Given the description of an element on the screen output the (x, y) to click on. 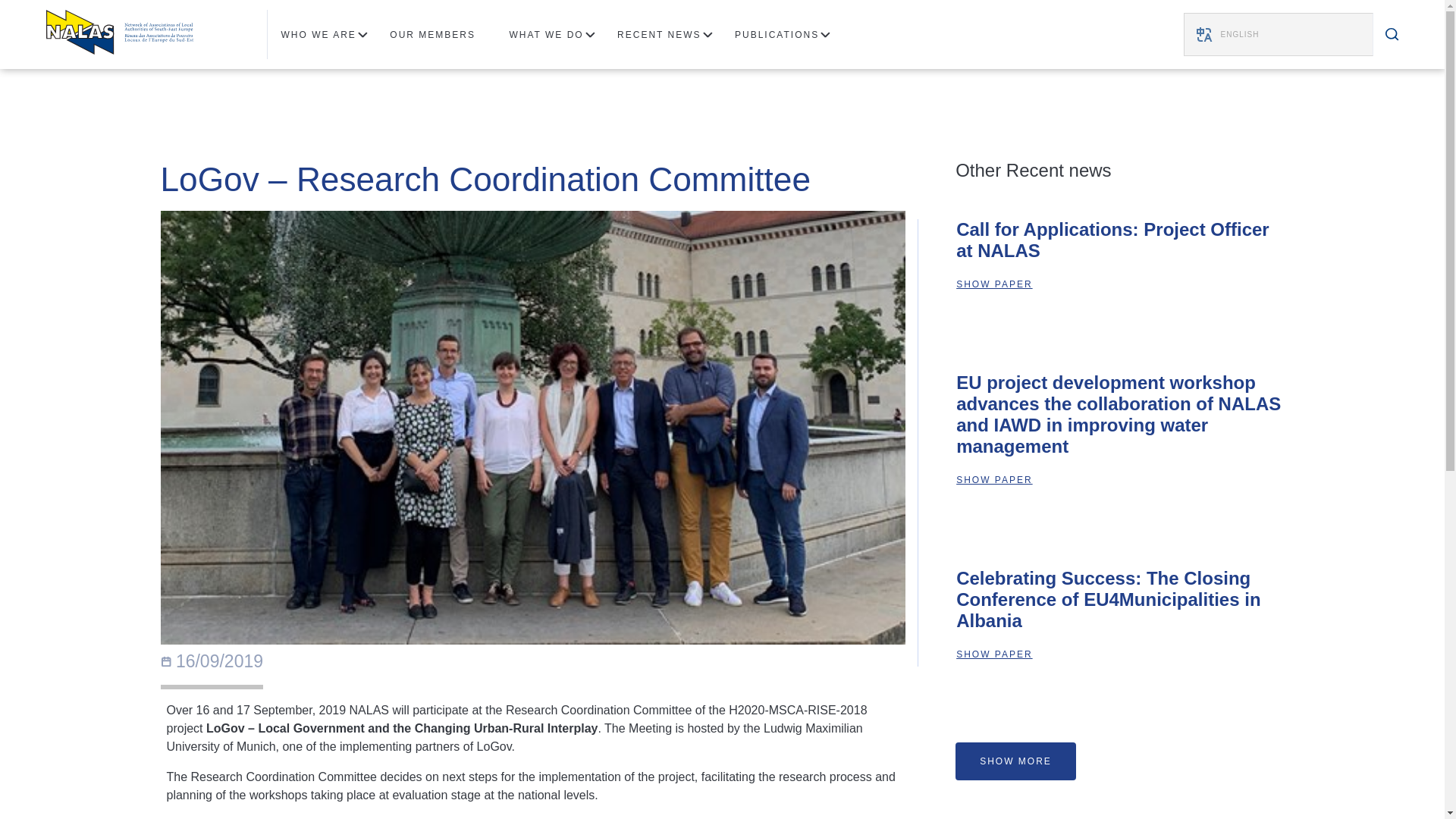
PUBLICATIONS (783, 33)
WHO WE ARE (324, 33)
Nalas (118, 33)
WHAT WE DO (551, 33)
RECENT NEWS (665, 33)
OUR MEMBERS (438, 33)
